Given the description of an element on the screen output the (x, y) to click on. 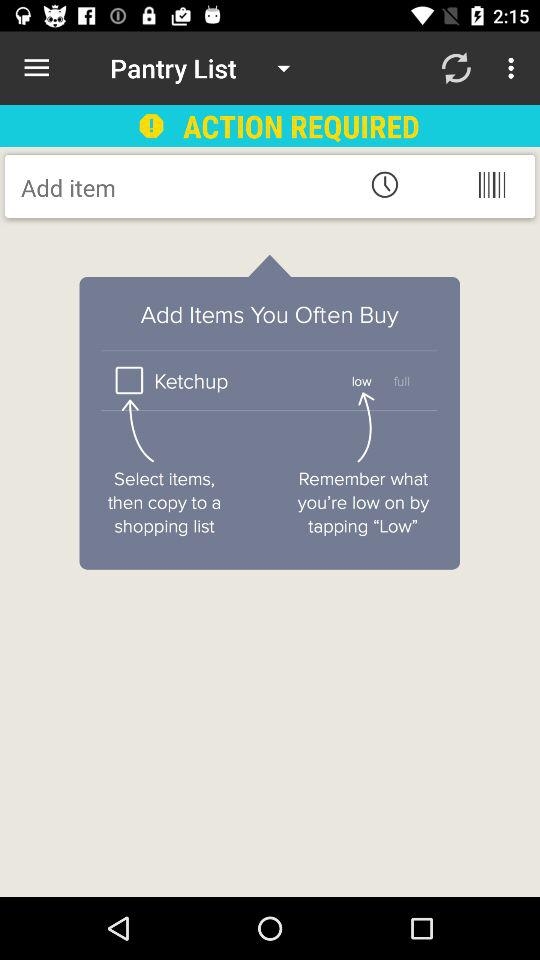
add button (181, 187)
